Given the description of an element on the screen output the (x, y) to click on. 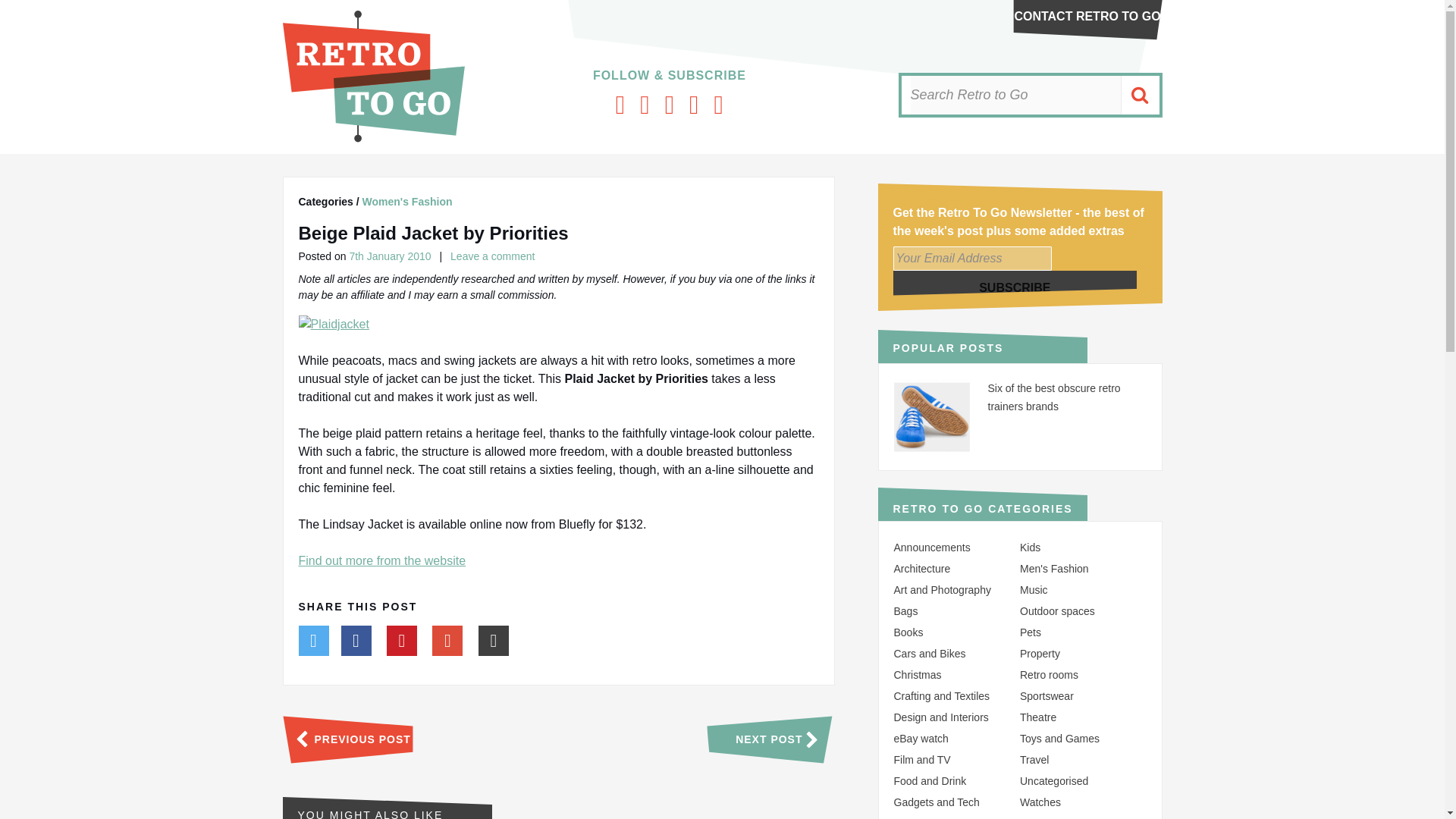
7th January 2010 (389, 256)
Search (1139, 95)
Leave a comment (491, 256)
CONTACT RETRO TO GO (1086, 15)
PREVIOUS POST (346, 739)
Retro to Go (373, 137)
Subscribe (1015, 286)
Find out more from the website (381, 560)
Search (1139, 95)
Share on Twitter (313, 642)
Plaidjacket (333, 324)
Subscribe (1015, 286)
Your Email Address (972, 258)
Search Retro to Go (1015, 95)
